Given the description of an element on the screen output the (x, y) to click on. 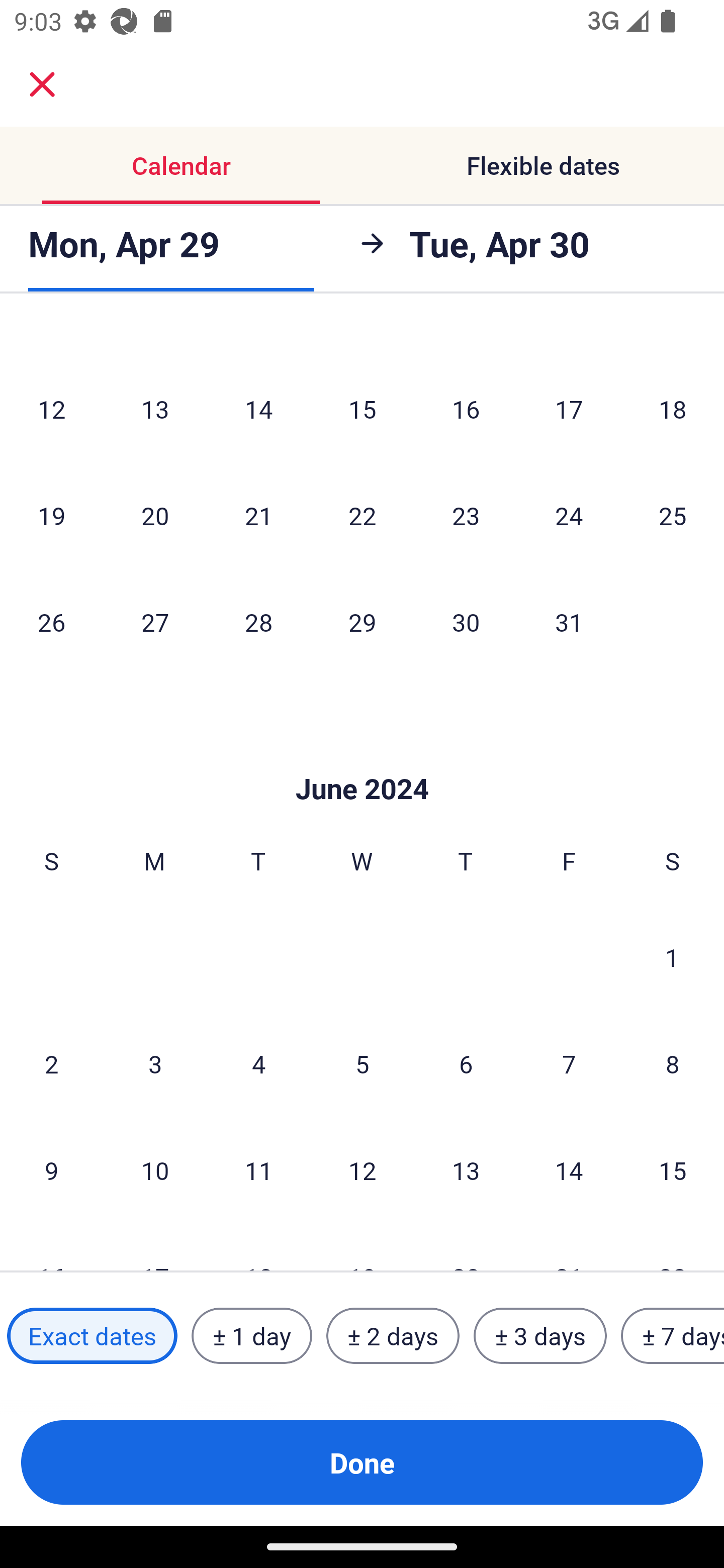
close. (42, 84)
Flexible dates (542, 164)
12 Sunday, May 12, 2024 (51, 408)
13 Monday, May 13, 2024 (155, 408)
14 Tuesday, May 14, 2024 (258, 408)
15 Wednesday, May 15, 2024 (362, 408)
16 Thursday, May 16, 2024 (465, 408)
17 Friday, May 17, 2024 (569, 408)
18 Saturday, May 18, 2024 (672, 408)
19 Sunday, May 19, 2024 (51, 515)
20 Monday, May 20, 2024 (155, 515)
21 Tuesday, May 21, 2024 (258, 515)
22 Wednesday, May 22, 2024 (362, 515)
23 Thursday, May 23, 2024 (465, 515)
24 Friday, May 24, 2024 (569, 515)
25 Saturday, May 25, 2024 (672, 515)
26 Sunday, May 26, 2024 (51, 621)
27 Monday, May 27, 2024 (155, 621)
28 Tuesday, May 28, 2024 (258, 621)
29 Wednesday, May 29, 2024 (362, 621)
30 Thursday, May 30, 2024 (465, 621)
31 Friday, May 31, 2024 (569, 621)
Skip to Done (362, 758)
1 Saturday, June 1, 2024 (672, 957)
2 Sunday, June 2, 2024 (51, 1063)
3 Monday, June 3, 2024 (155, 1063)
4 Tuesday, June 4, 2024 (258, 1063)
5 Wednesday, June 5, 2024 (362, 1063)
6 Thursday, June 6, 2024 (465, 1063)
7 Friday, June 7, 2024 (569, 1063)
8 Saturday, June 8, 2024 (672, 1063)
9 Sunday, June 9, 2024 (51, 1169)
10 Monday, June 10, 2024 (155, 1169)
11 Tuesday, June 11, 2024 (258, 1169)
12 Wednesday, June 12, 2024 (362, 1169)
13 Thursday, June 13, 2024 (465, 1169)
14 Friday, June 14, 2024 (569, 1169)
15 Saturday, June 15, 2024 (672, 1169)
Exact dates (92, 1335)
± 1 day (251, 1335)
± 2 days (392, 1335)
± 3 days (539, 1335)
± 7 days (672, 1335)
Done (361, 1462)
